Given the description of an element on the screen output the (x, y) to click on. 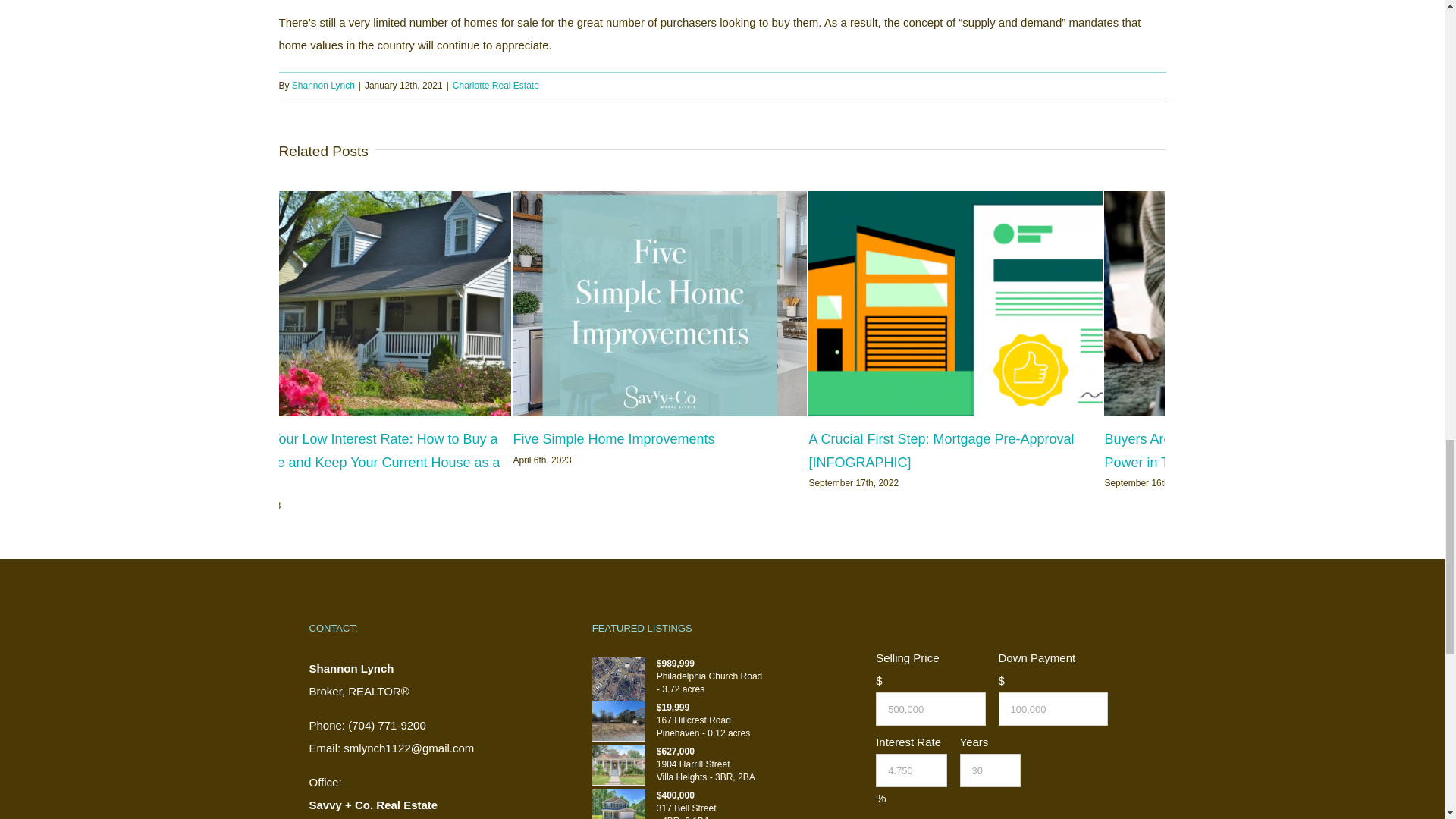
30 (989, 770)
Posts by Shannon Lynch (323, 85)
Five Simple Home Improvements (613, 438)
500,000 (930, 708)
100,000 (1051, 708)
4.750 (911, 770)
